Given the description of an element on the screen output the (x, y) to click on. 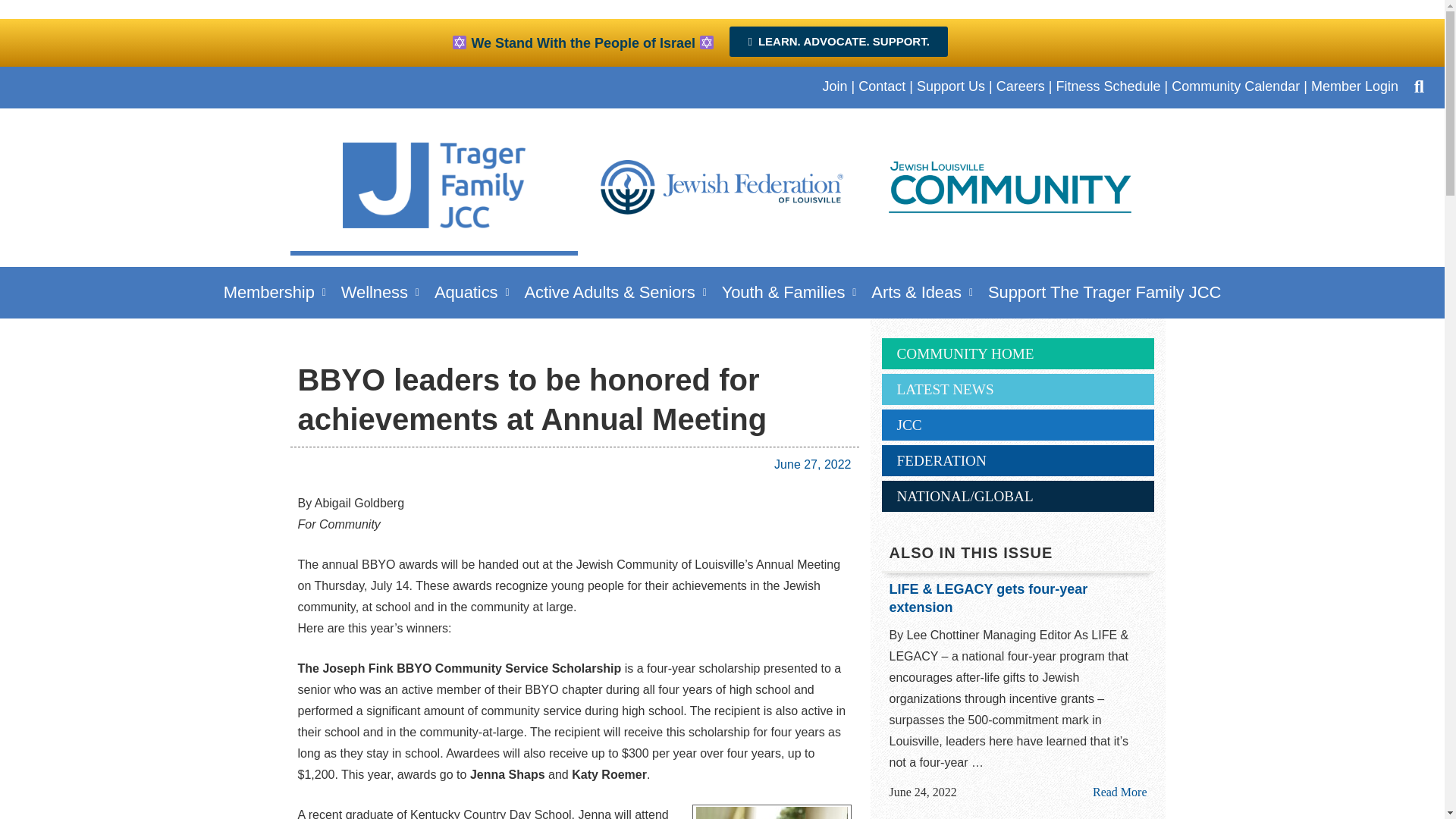
Join (834, 86)
Wellness (379, 292)
Membership (274, 292)
Careers (1020, 86)
Community Calendar (1236, 86)
Aquatics (471, 292)
Member Login (1354, 86)
Contact (882, 86)
Support Us (951, 86)
9:53 am (922, 791)
Fitness Schedule (1107, 86)
10:45 am (812, 464)
LEARN. ADVOCATE. SUPPORT. (838, 41)
